Given the description of an element on the screen output the (x, y) to click on. 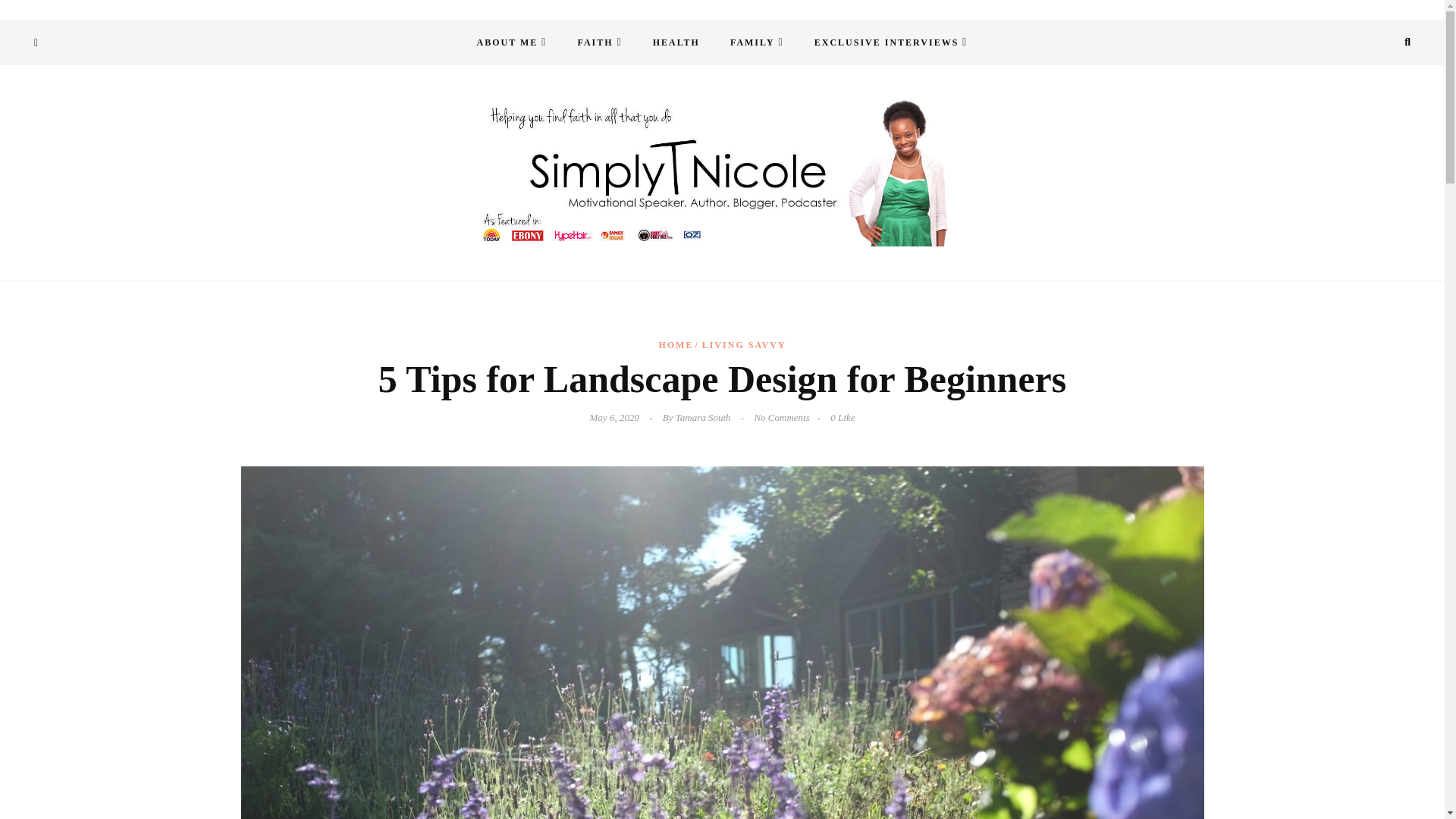
EXCLUSIVE INTERVIEWS (890, 42)
FAITH (598, 42)
ABOUT ME (511, 42)
Like this (841, 417)
HEALTH (676, 42)
FAMILY (756, 42)
